Given the description of an element on the screen output the (x, y) to click on. 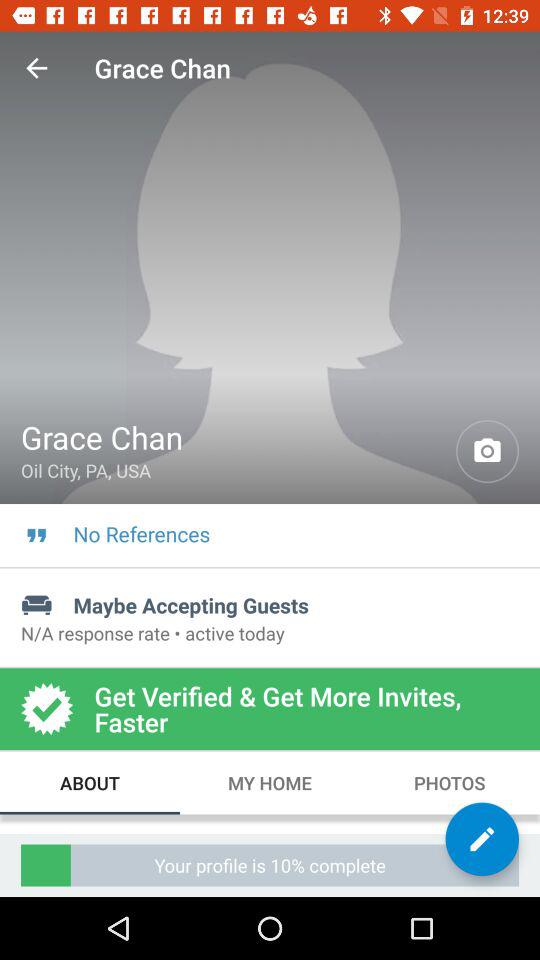
edit the photo or details (482, 839)
